Given the description of an element on the screen output the (x, y) to click on. 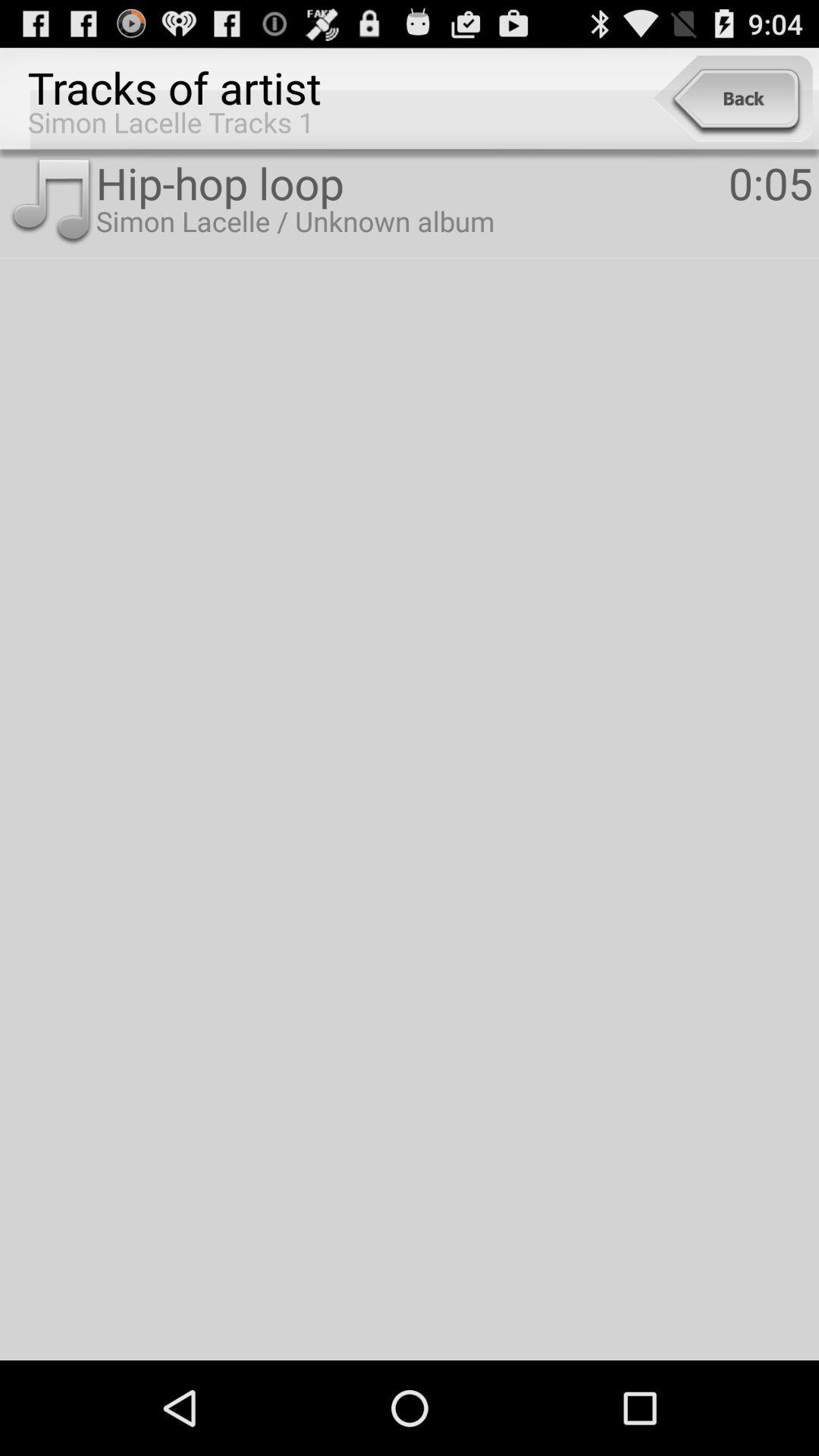
select icon above hip-hop loop icon (732, 98)
